Given the description of an element on the screen output the (x, y) to click on. 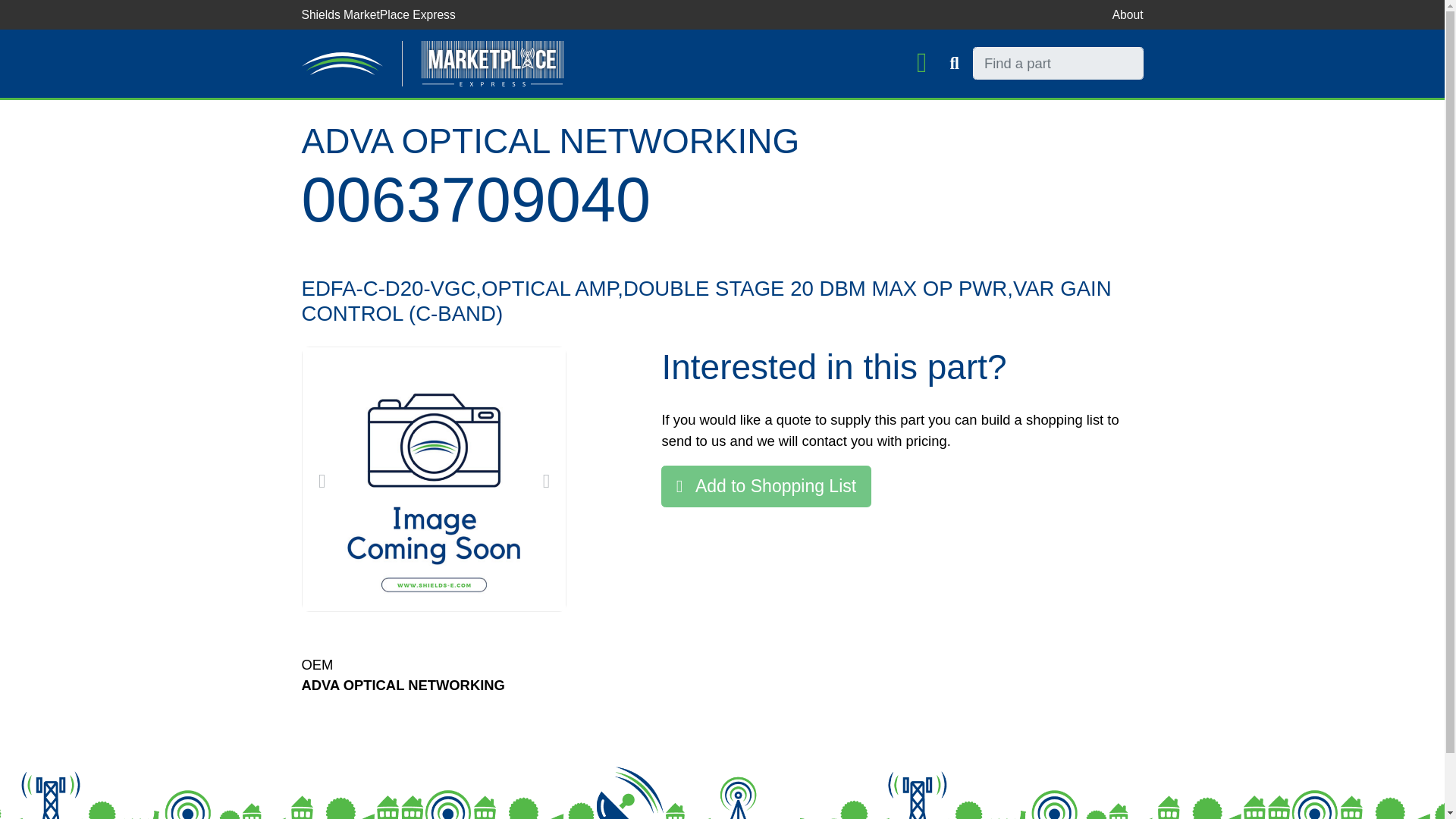
Add to Shopping List (765, 486)
Shields MarketPlace Express (378, 14)
About (1127, 14)
